Given the description of an element on the screen output the (x, y) to click on. 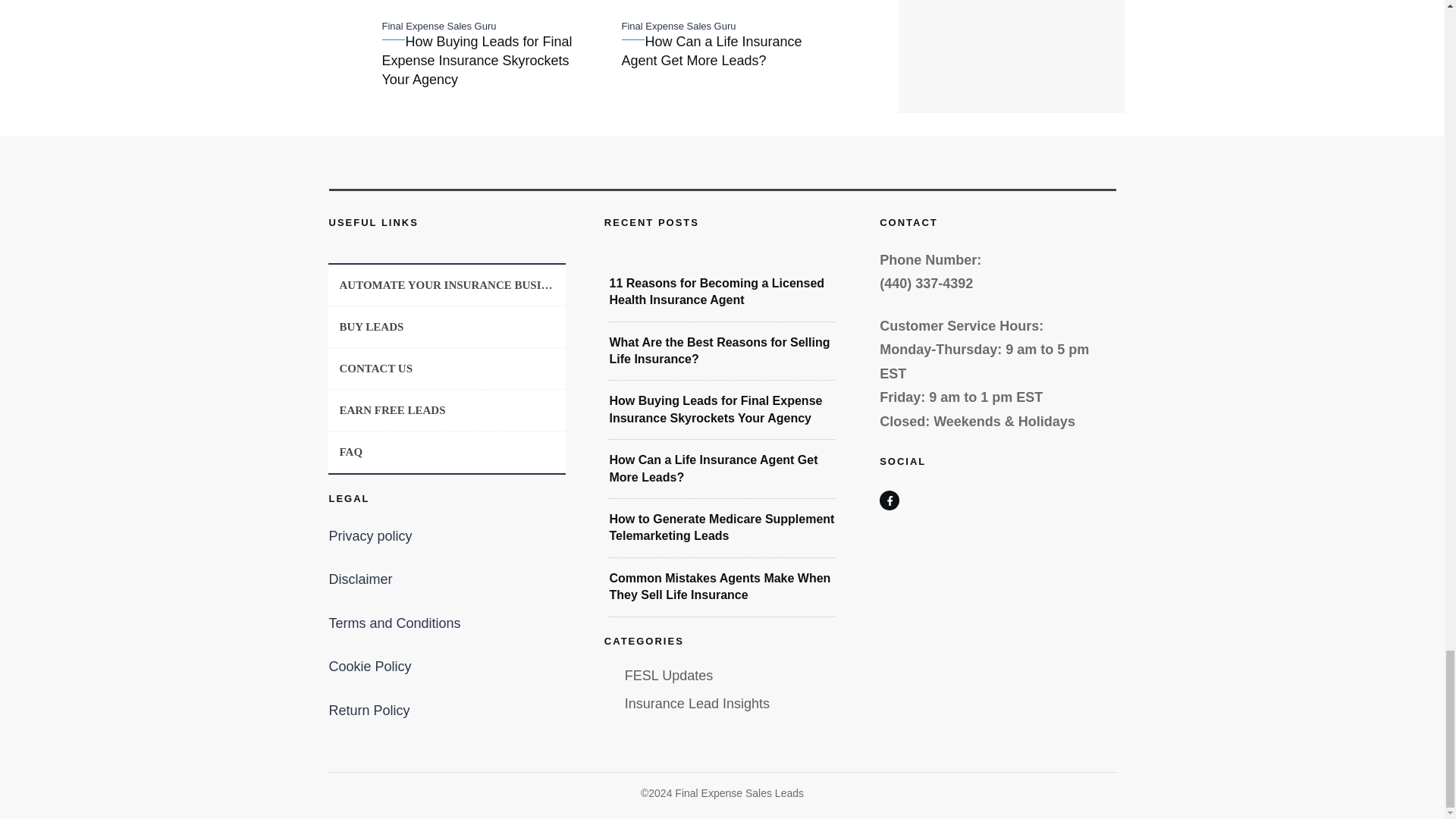
11 Reasons for Becoming a Licensed Health Insurance Agent (716, 291)
How to Generate Medicare Supplement Telemarketing Leads (721, 527)
Final Expense Sales Guru (678, 25)
How Can a Life Insurance Agent Get More Leads? (712, 468)
How Can a Life Insurance Agent Get More Leads? (711, 50)
What Are the Best Reasons for Selling Life Insurance? (718, 350)
Final Expense Sales Guru (438, 25)
